Given the description of an element on the screen output the (x, y) to click on. 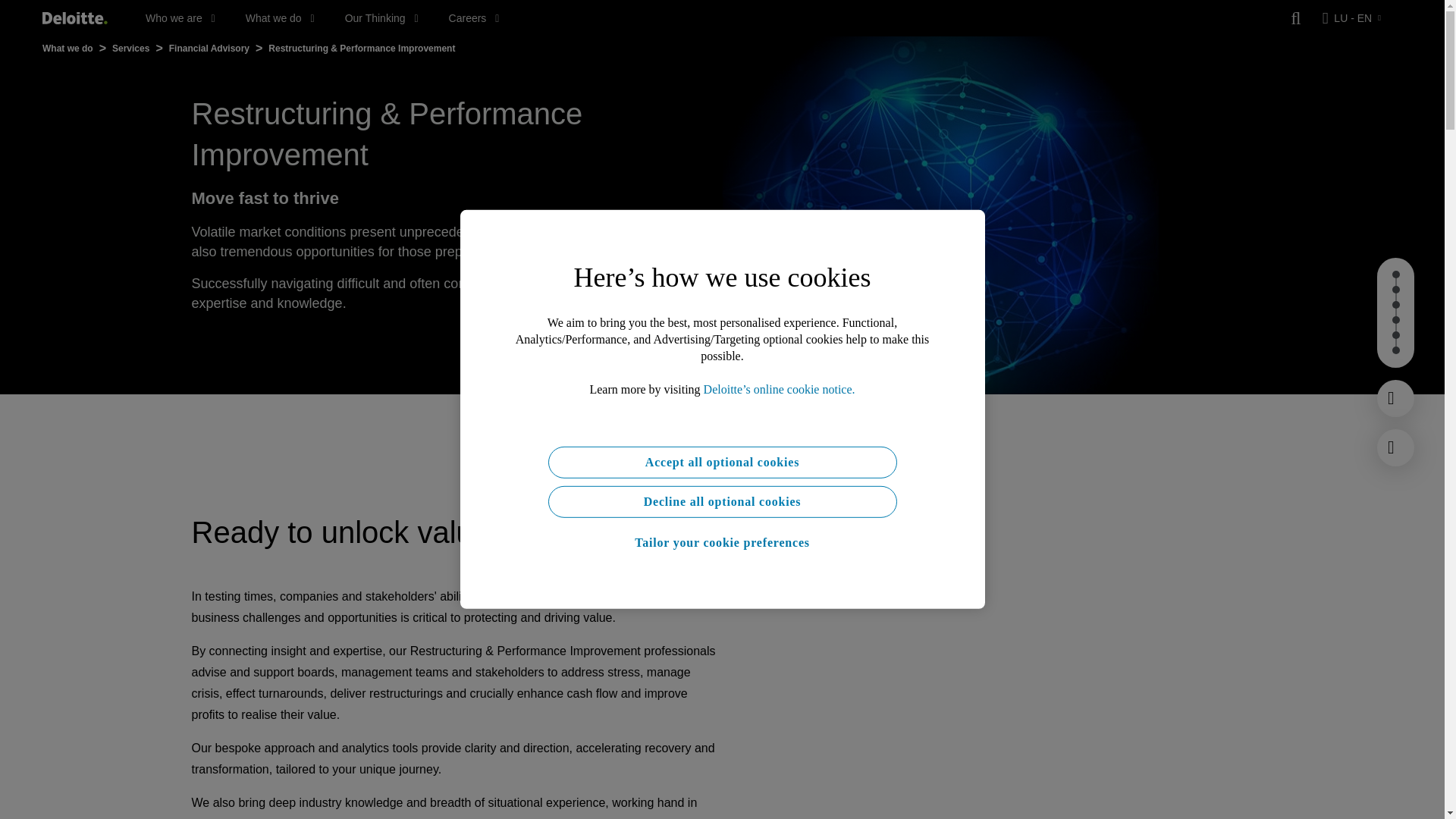
Who we are (180, 18)
Our Thinking (382, 18)
Careers (473, 18)
What we do (280, 18)
Deloitte (74, 18)
